Given the description of an element on the screen output the (x, y) to click on. 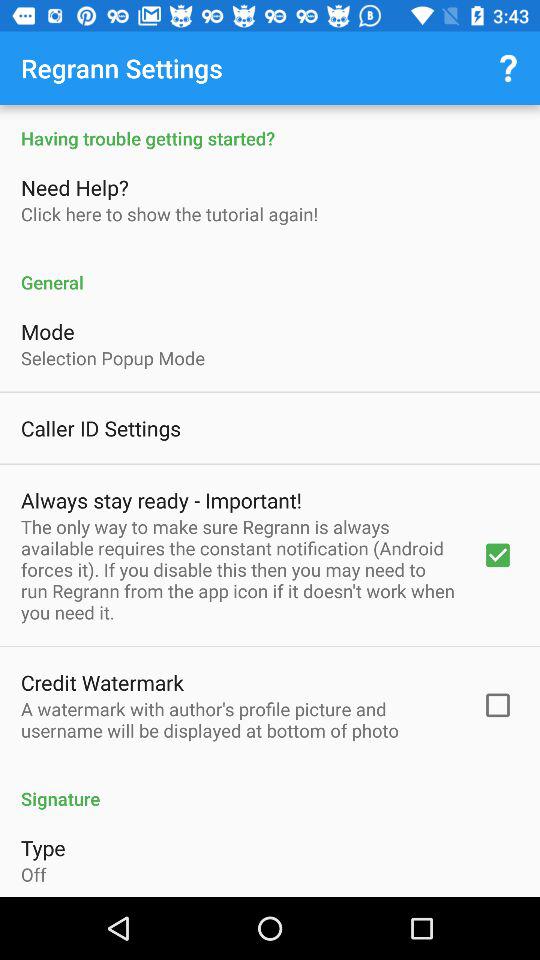
tap the item above the credit watermark icon (238, 569)
